Given the description of an element on the screen output the (x, y) to click on. 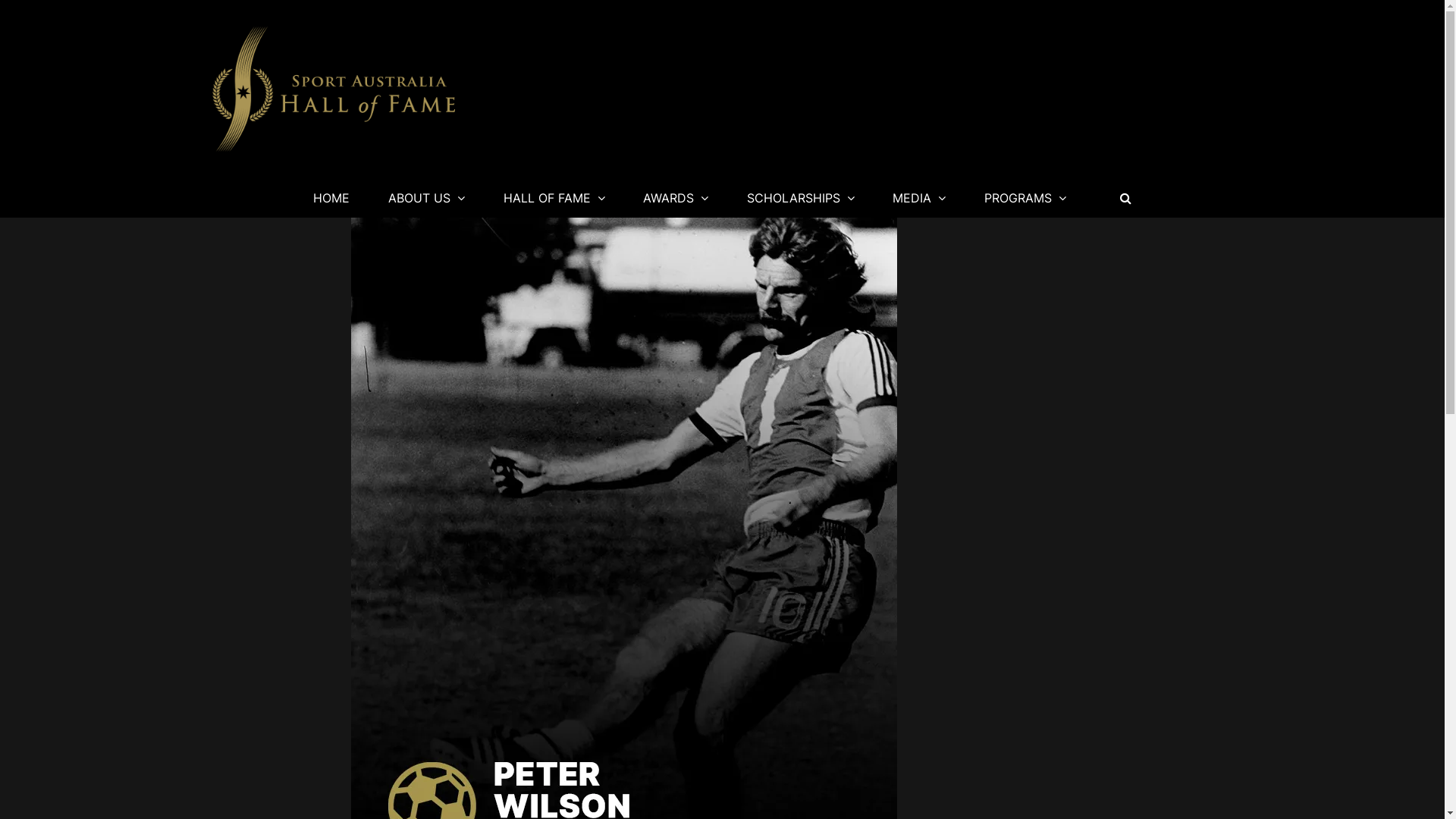
PROGRAMS Element type: text (1024, 197)
ABOUT US Element type: text (426, 197)
HALL OF FAME Element type: text (554, 197)
AWARDS Element type: text (675, 197)
SCHOLARSHIPS Element type: text (800, 197)
HOME Element type: text (331, 197)
MEDIA Element type: text (919, 197)
